Given the description of an element on the screen output the (x, y) to click on. 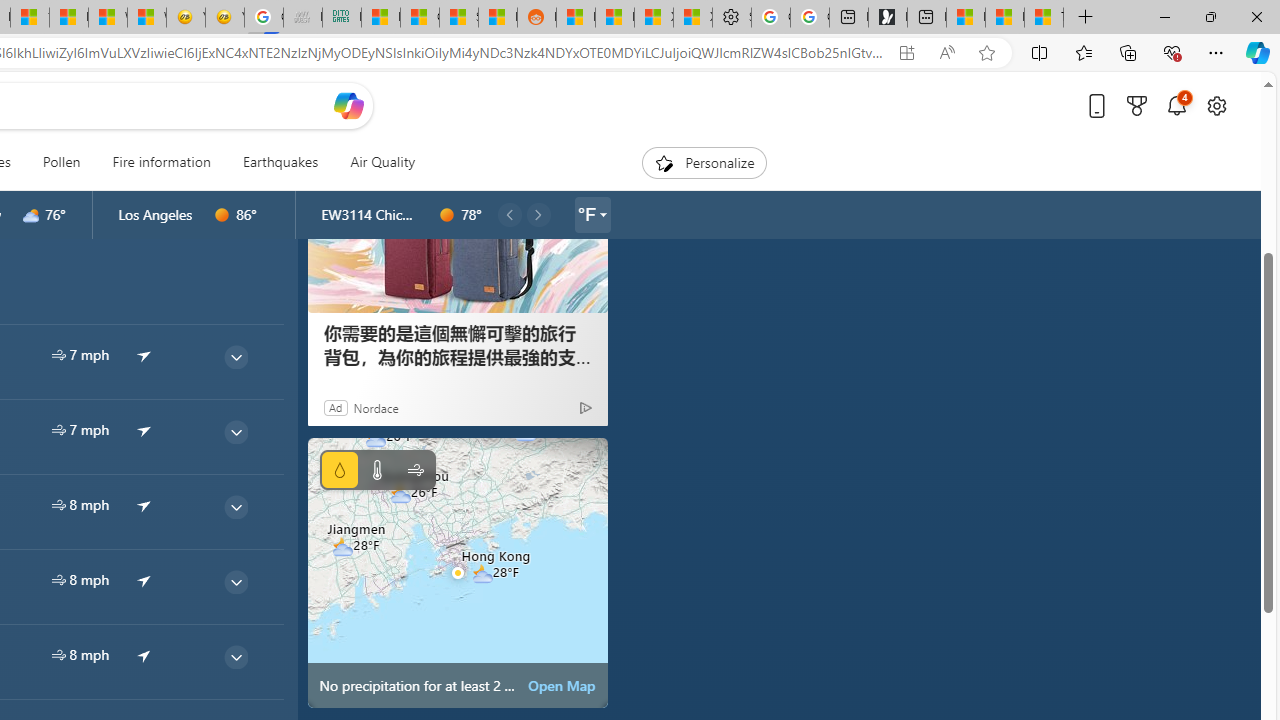
common/carouselChevron (538, 214)
Fire information (161, 162)
Class: miniMapRadarSVGView-DS-EntryPoint1-1 (457, 572)
d3000 (31, 215)
Pollen (61, 162)
Fitness - MSN (68, 17)
Temperature (376, 470)
